Given the description of an element on the screen output the (x, y) to click on. 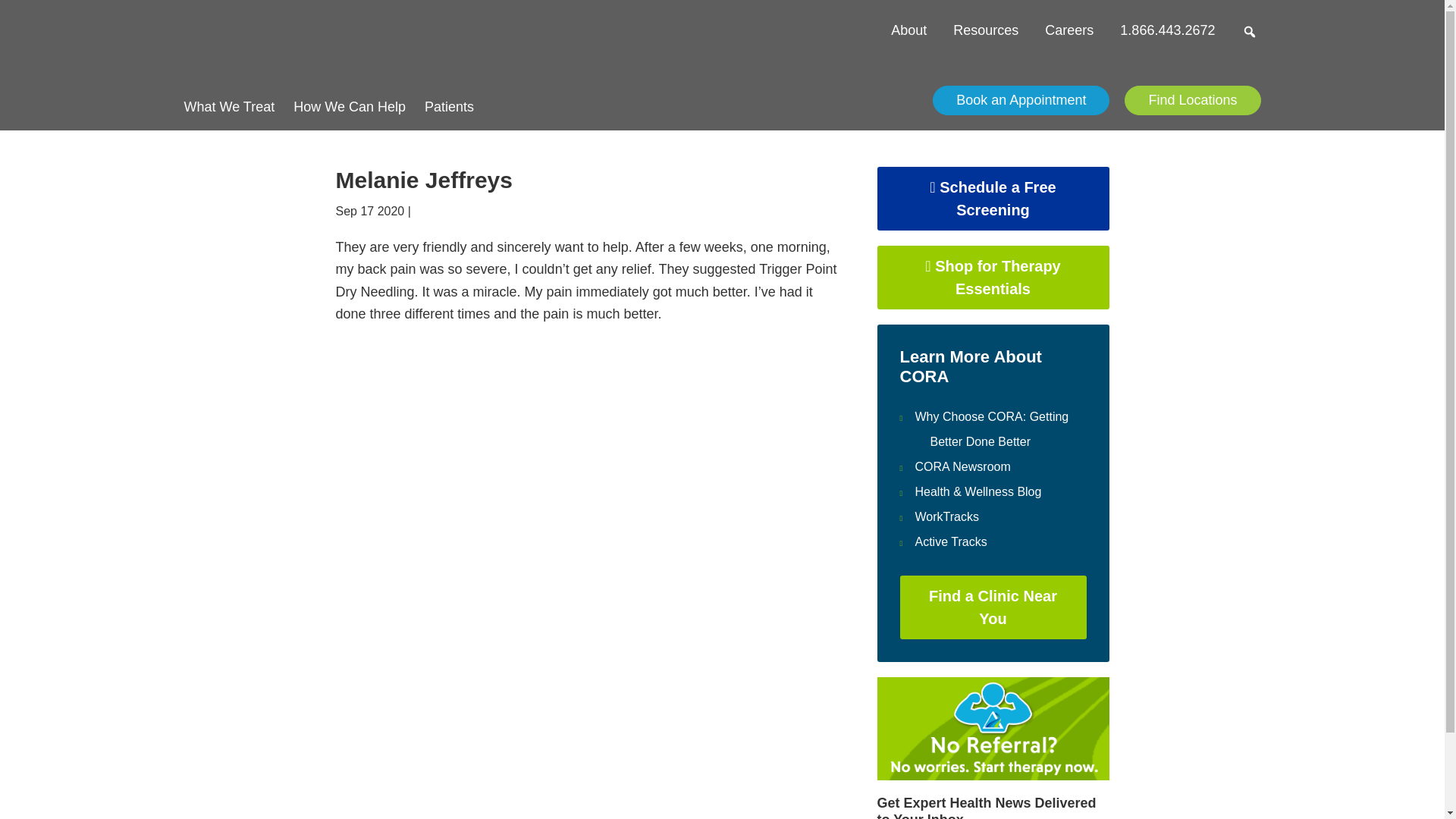
Resources (985, 30)
Careers (1069, 30)
1.866.443.2672 (1166, 30)
About (908, 30)
Find Locations (1192, 100)
Book an Appointment (1021, 100)
What We Treat (229, 101)
